Given the description of an element on the screen output the (x, y) to click on. 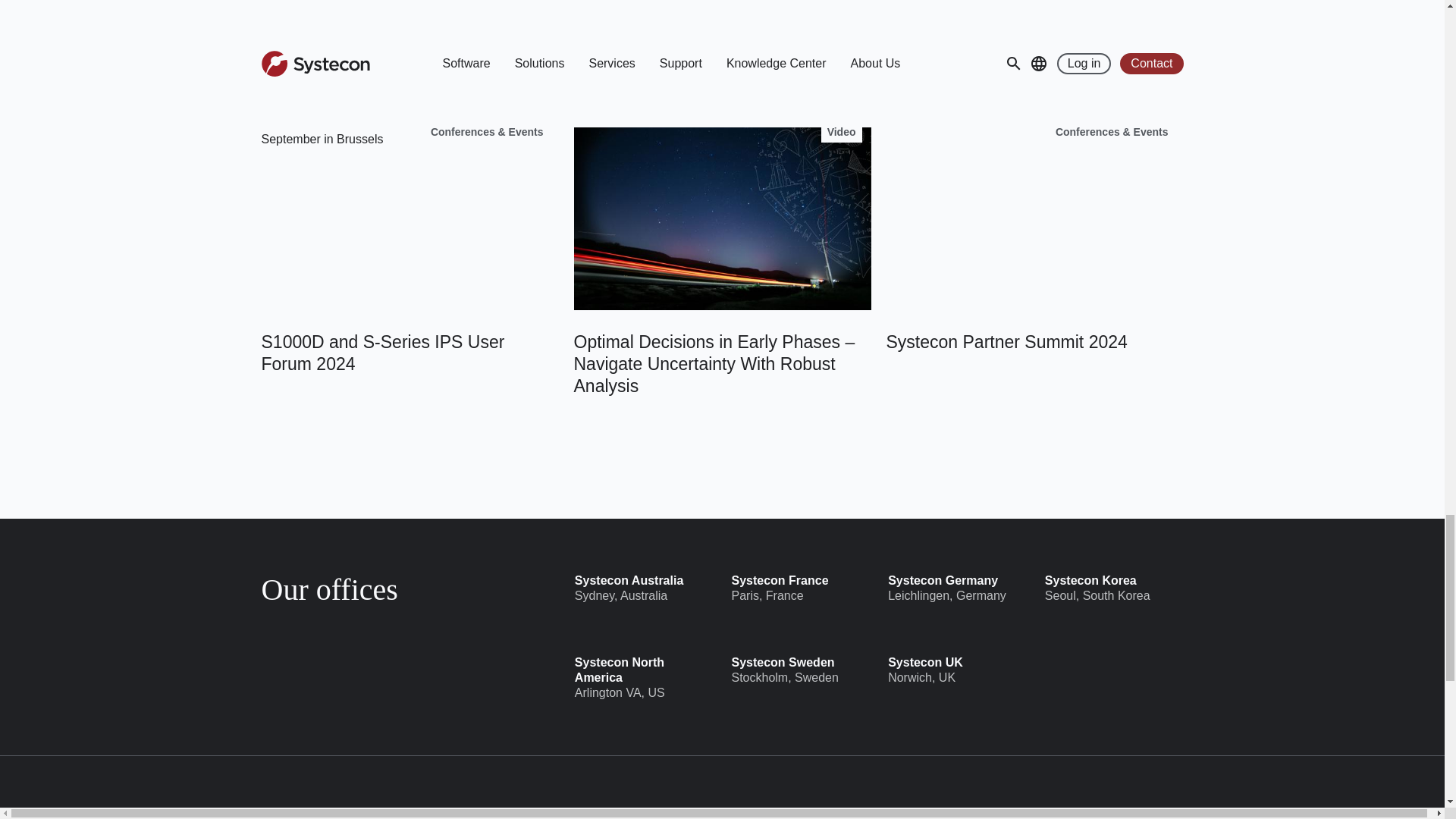
Systecon10 (721, 211)
